Given the description of an element on the screen output the (x, y) to click on. 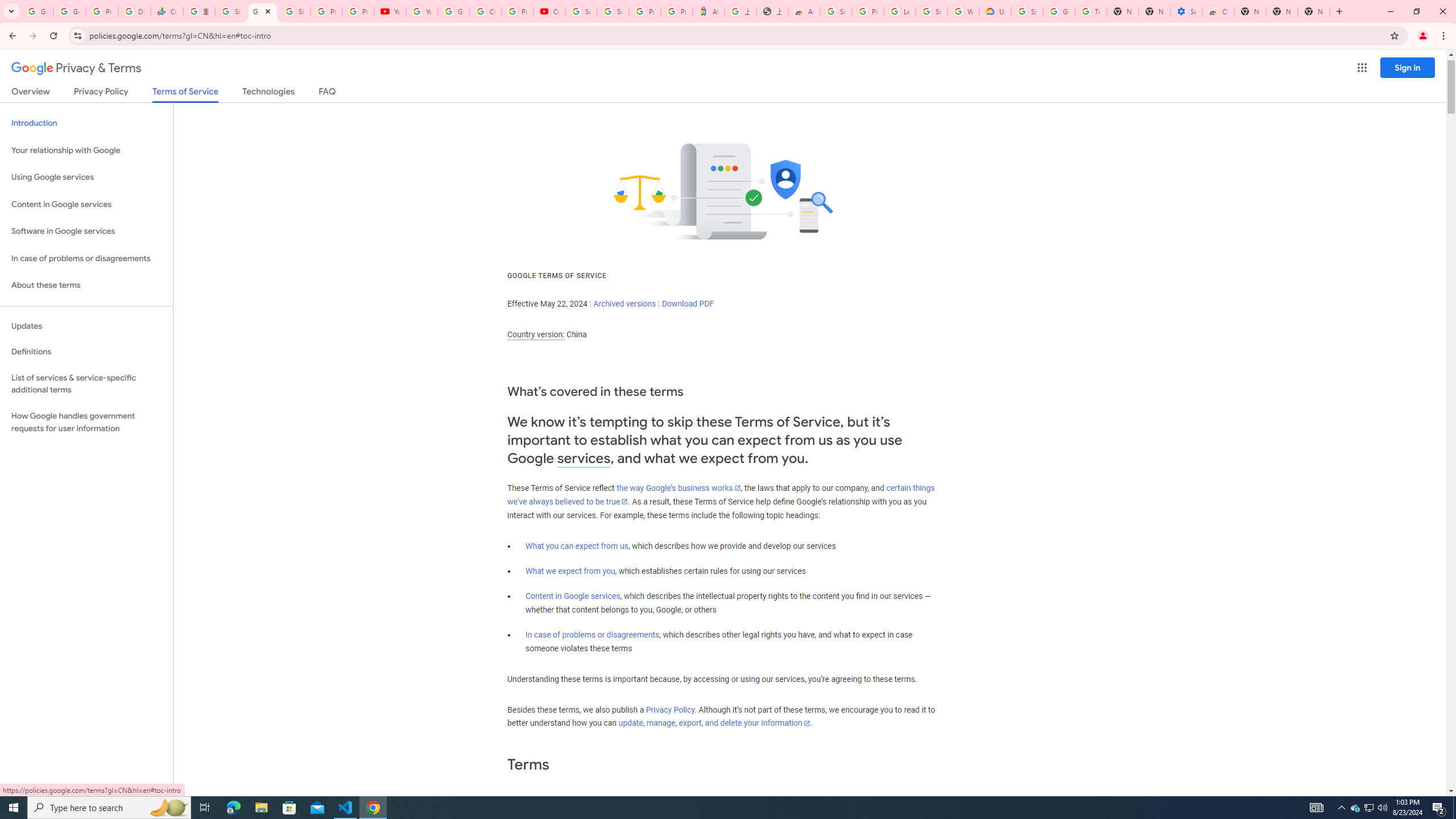
YouTube (389, 11)
services (583, 458)
About these terms (86, 284)
Sign in - Google Accounts (294, 11)
What we expect from you (570, 570)
Sign in - Google Accounts (230, 11)
Sign in - Google Accounts (581, 11)
Privacy Checkup (358, 11)
Atour Hotel - Google hotels (708, 11)
Google Workspace Admin Community (37, 11)
Currencies - Google Finance (166, 11)
